Given the description of an element on the screen output the (x, y) to click on. 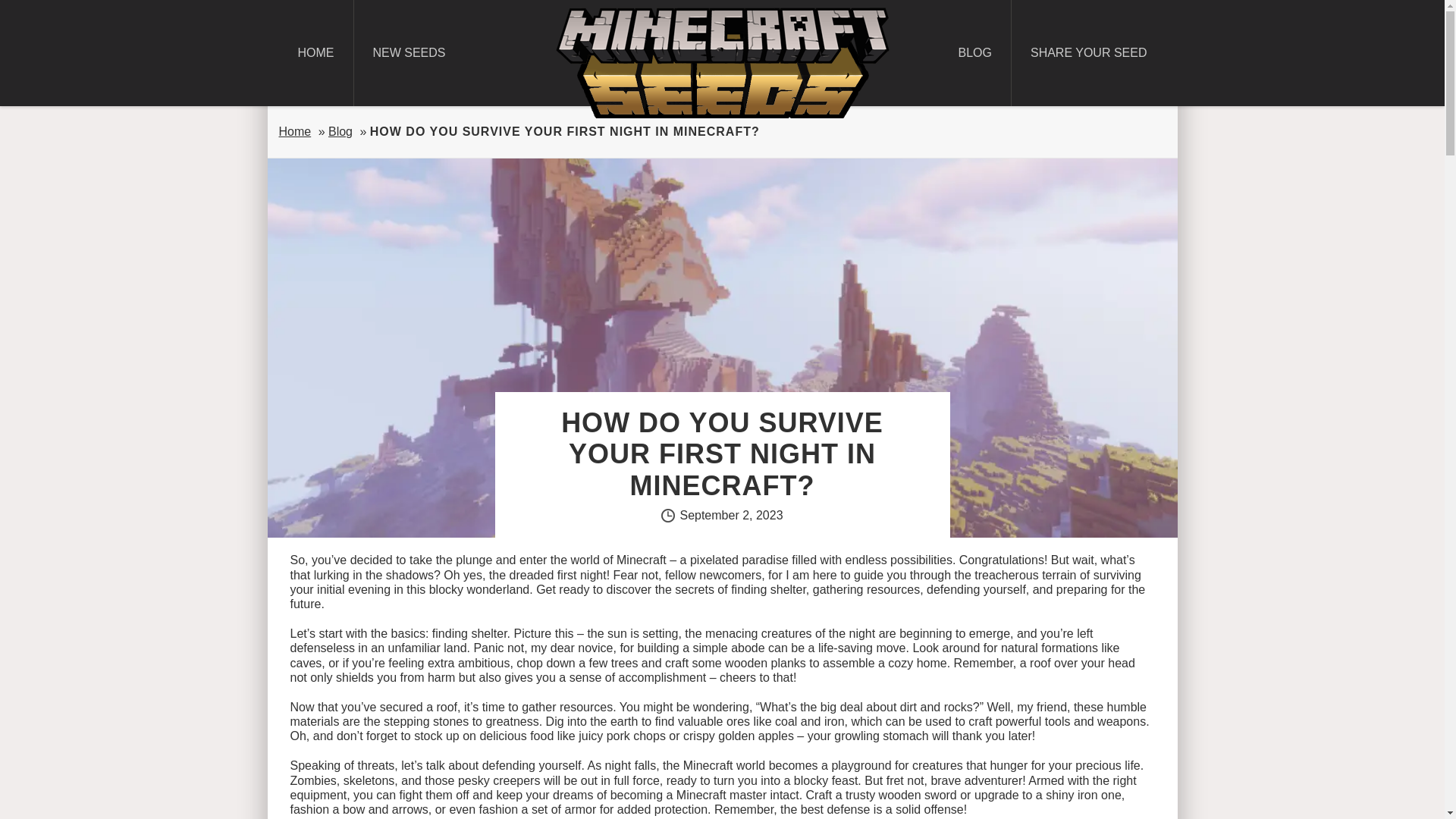
Blog (340, 131)
SHARE YOUR SEED (1088, 53)
NEW SEEDS (408, 53)
Home (295, 131)
Minecraft Seeds (721, 62)
